Given the description of an element on the screen output the (x, y) to click on. 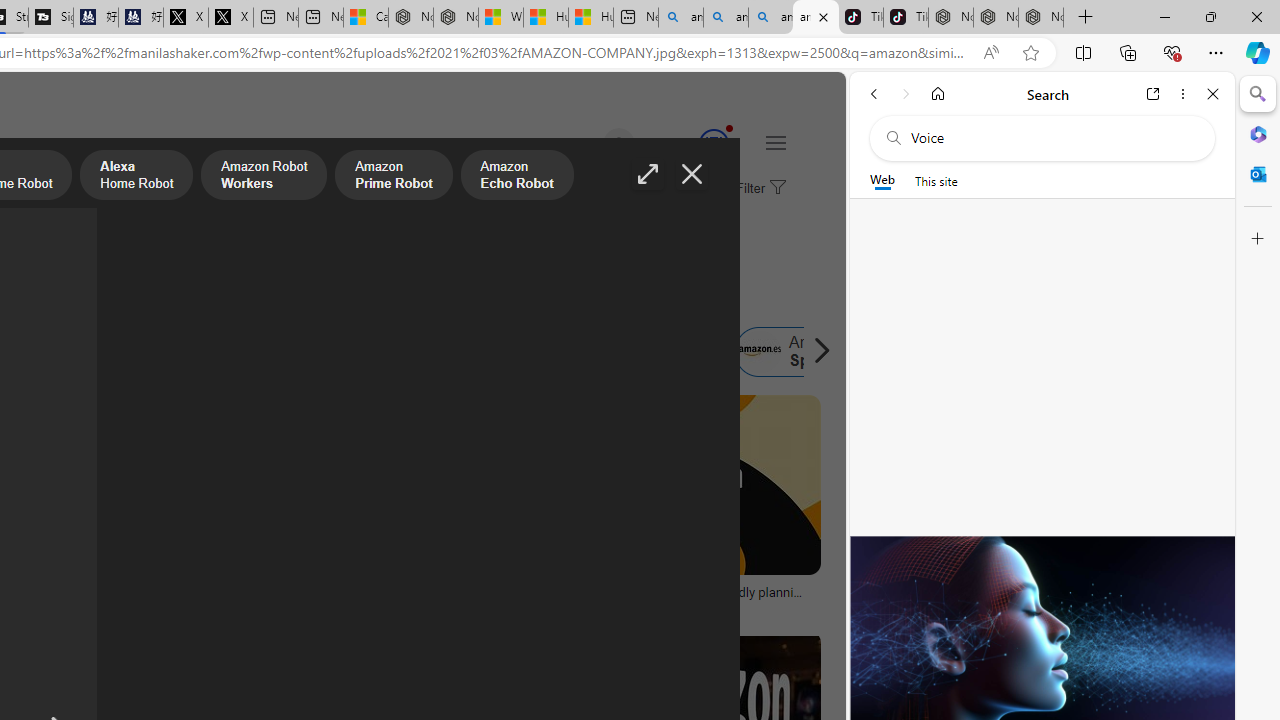
Amazon Shoes (659, 351)
Close tab (823, 16)
Image result for amazon (685, 485)
Forward (906, 93)
Amazon.com.au (270, 351)
Copilot (Ctrl+Shift+.) (1258, 52)
Full screen (648, 173)
Nordace - Best Sellers (950, 17)
Search (1258, 94)
amazon - Search (725, 17)
Search the web (1051, 137)
This site scope (936, 180)
